Given the description of an element on the screen output the (x, y) to click on. 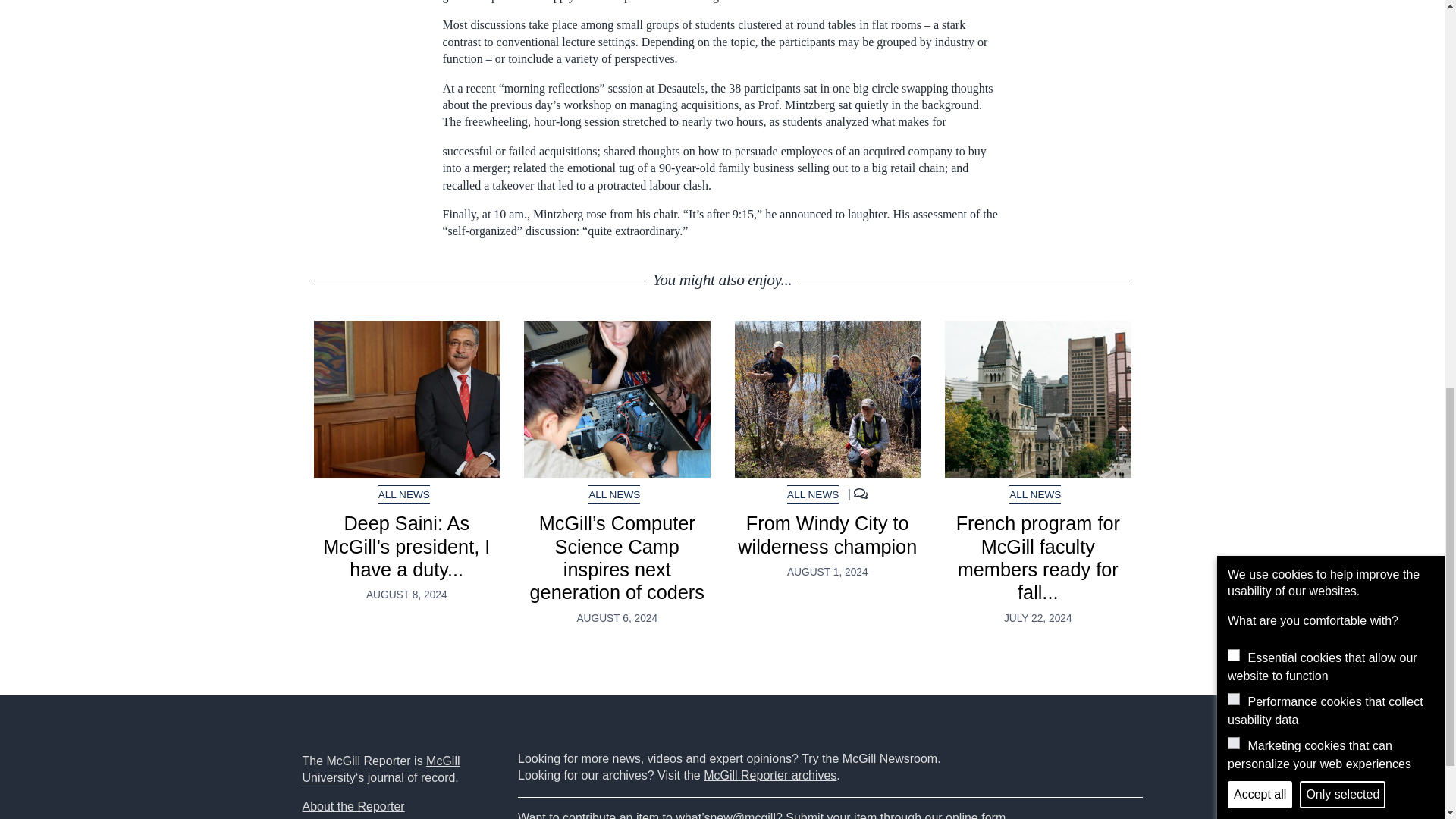
French program for McGill faculty members ready for fall... (1037, 557)
About the Reporter (352, 806)
ALL NEWS (1035, 494)
McGill University (380, 768)
From Windy City to wilderness champion (827, 534)
From Windy City to wilderness champion (826, 398)
ALL NEWS (812, 494)
ALL NEWS (614, 494)
ALL NEWS (403, 494)
